Given the description of an element on the screen output the (x, y) to click on. 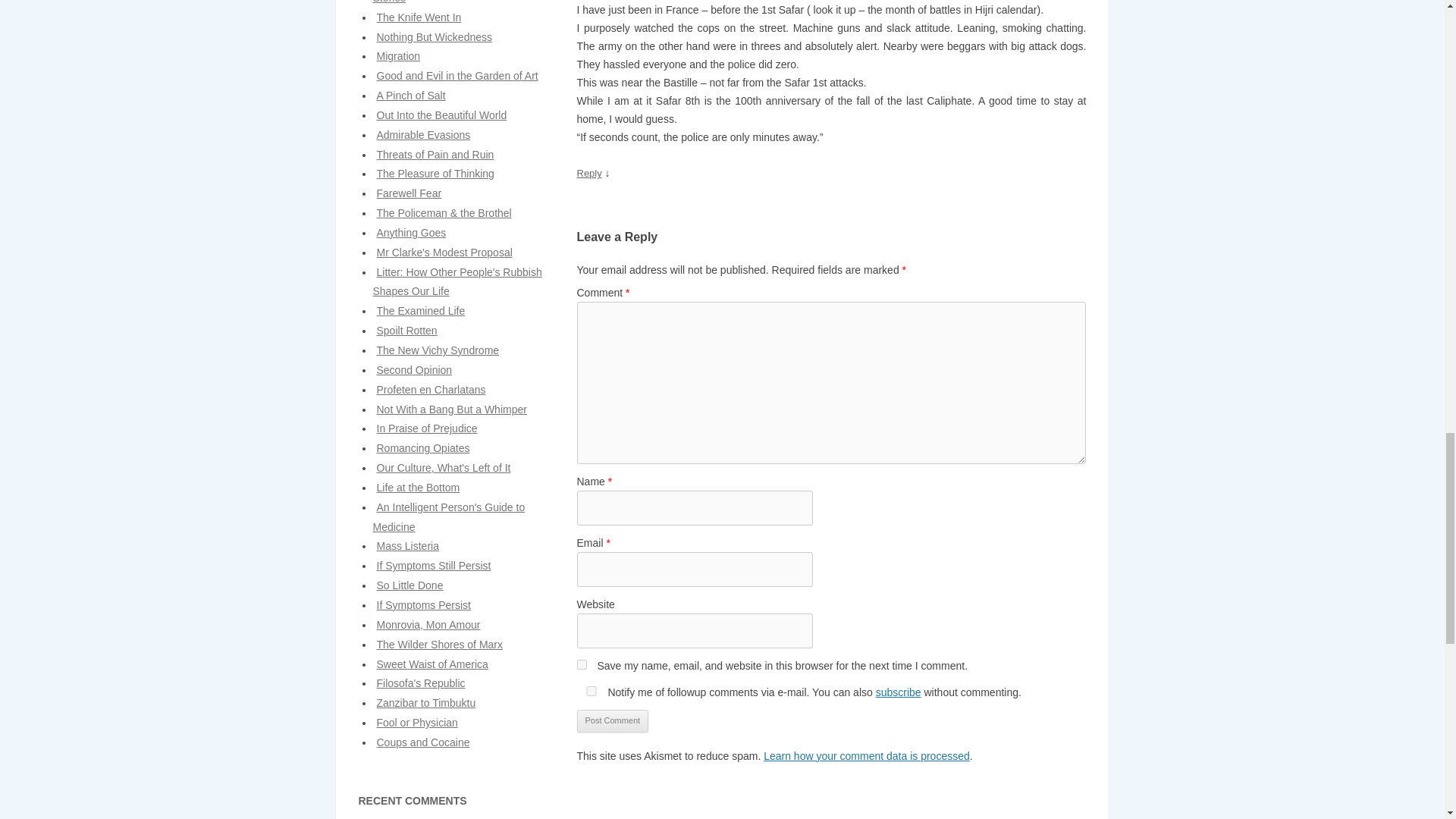
yes (590, 691)
yes (581, 664)
Post Comment (611, 721)
